Given the description of an element on the screen output the (x, y) to click on. 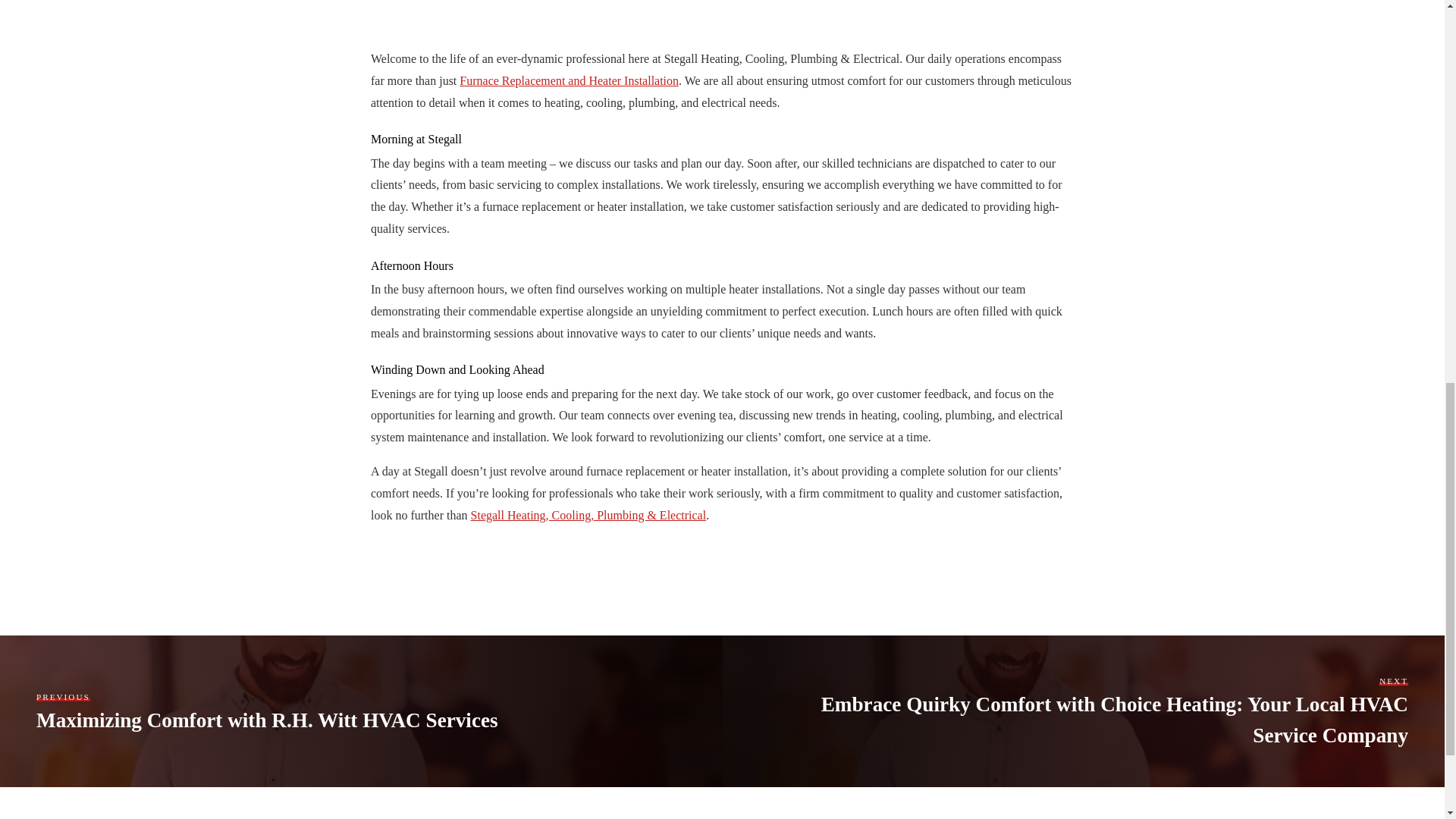
Furnace Replacement and Heater Installation (569, 80)
